Given the description of an element on the screen output the (x, y) to click on. 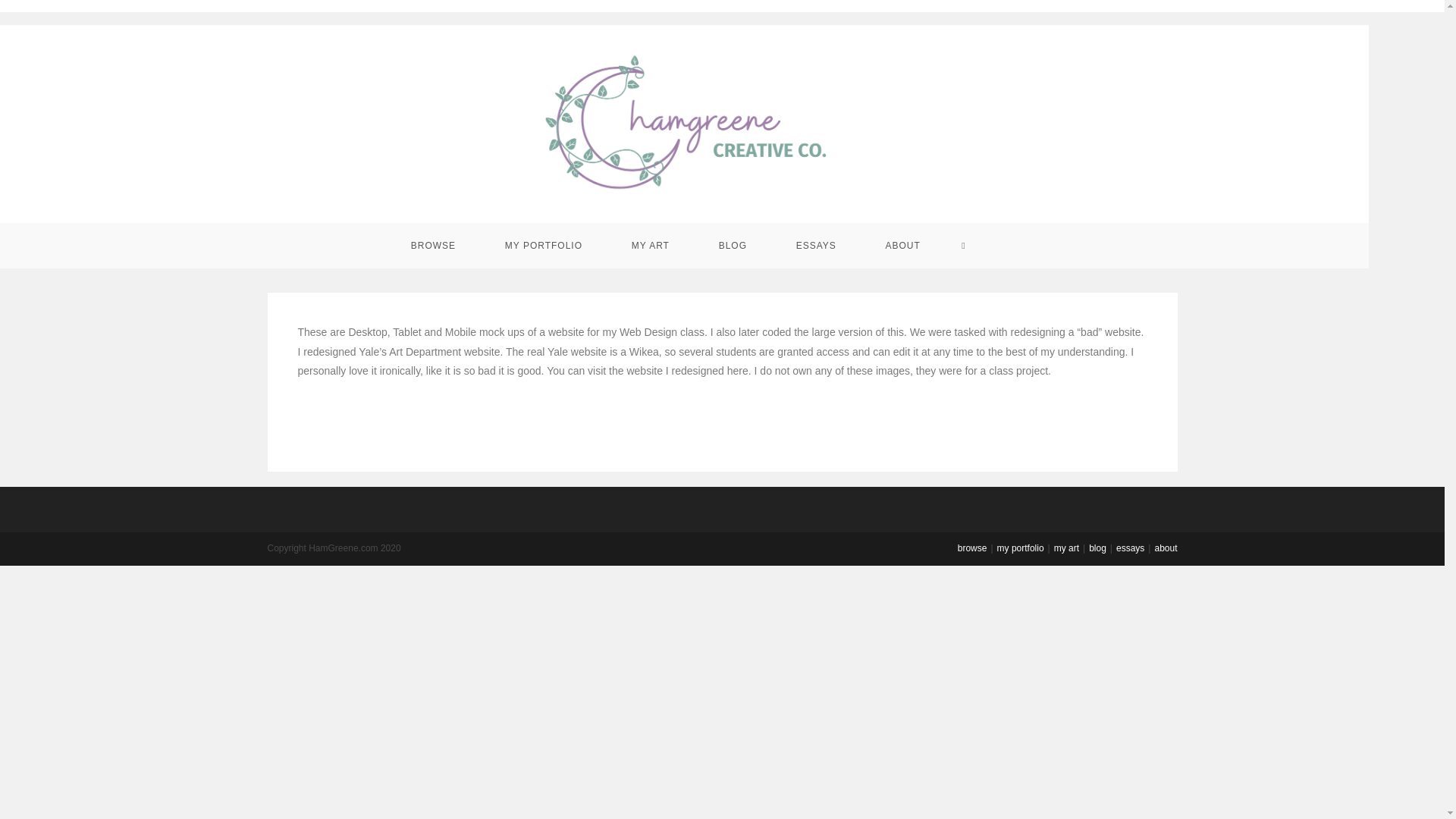
my portfolio (1020, 547)
essays (1130, 547)
ESSAYS (815, 245)
BLOG (732, 245)
MY ART (650, 245)
about (1165, 547)
MY PORTFOLIO (543, 245)
ABOUT (902, 245)
browse (972, 547)
blog (1097, 547)
BROWSE (432, 245)
my art (1066, 547)
